Given the description of an element on the screen output the (x, y) to click on. 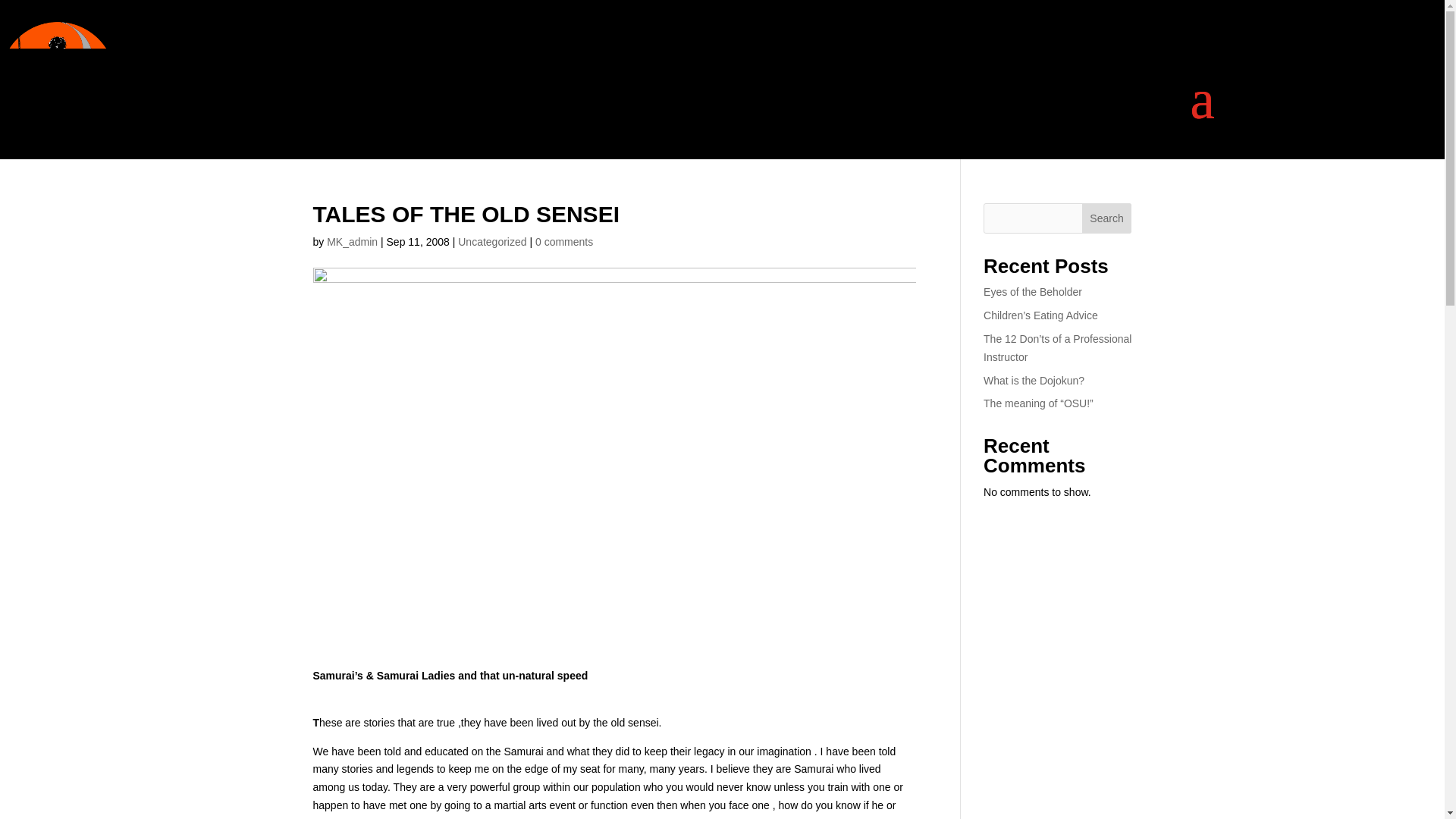
0 comments (563, 241)
logo-simple (57, 79)
Search (1106, 218)
Eyes of the Beholder (1032, 291)
Uncategorized (491, 241)
What is the Dojokun? (1034, 380)
